Given the description of an element on the screen output the (x, y) to click on. 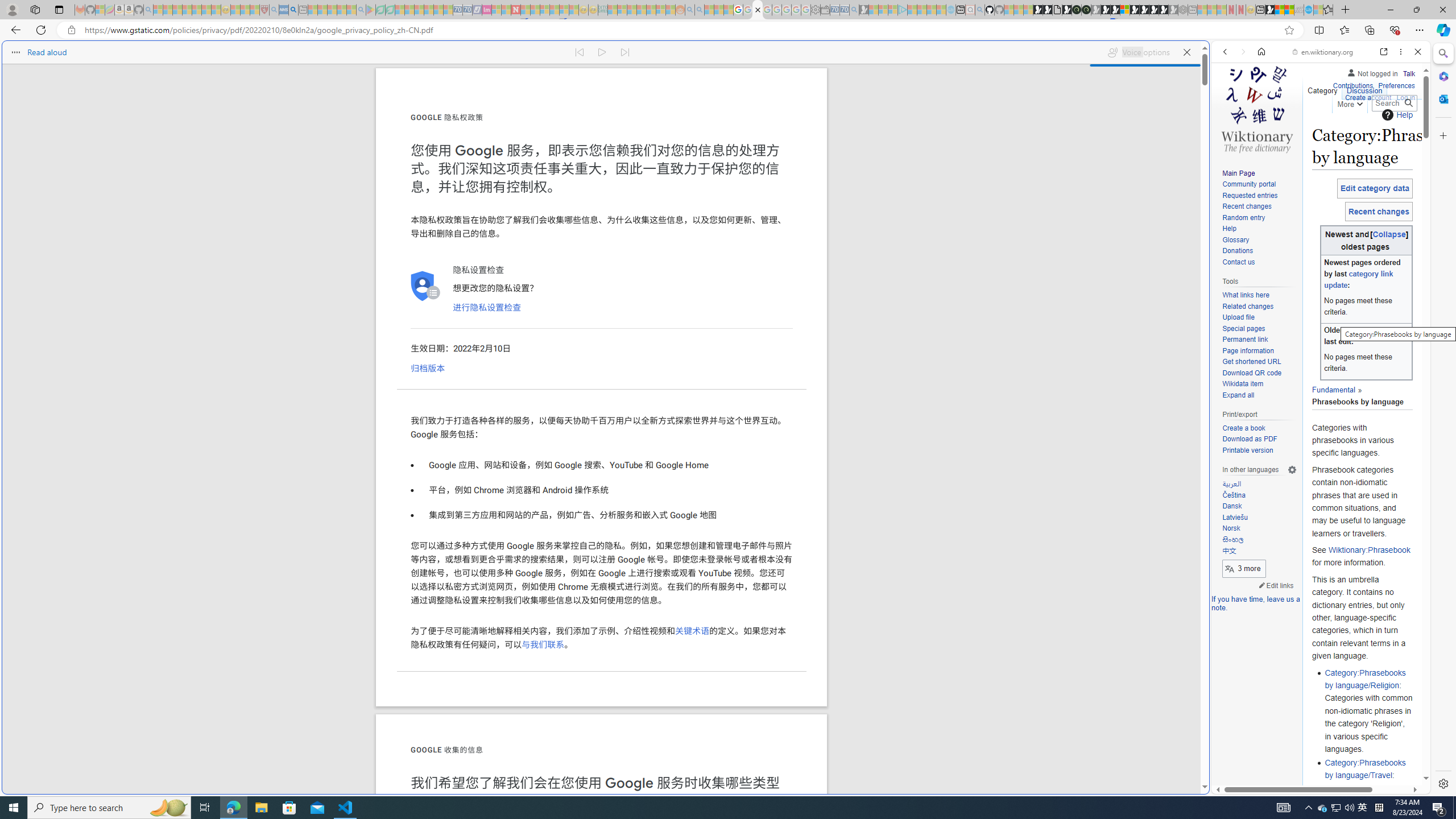
Earth has six continents not seven, radical new study claims (1288, 9)
3 more (1243, 568)
Page information (1259, 351)
utah sues federal government - Search (292, 9)
What links here (1245, 295)
Read next paragraph (624, 52)
